Given the description of an element on the screen output the (x, y) to click on. 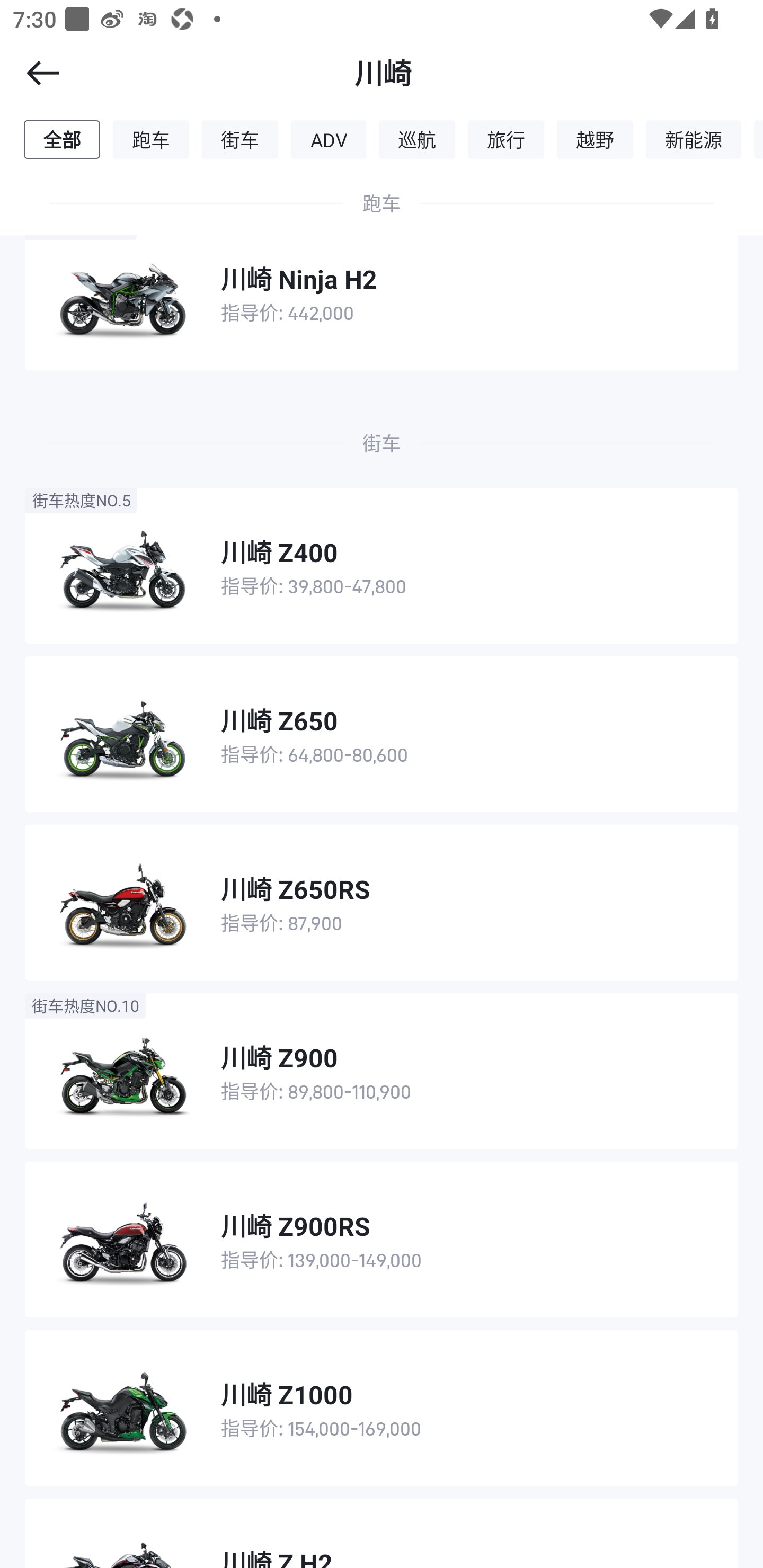
 (30, 72)
全部 (61, 139)
跑车 (150, 139)
街车 (240, 139)
ADV (328, 139)
巡航 (417, 139)
旅行 (505, 139)
越野 (594, 139)
新能源 (693, 139)
跑车热度NO.7 川崎 Ninja H2 指导价: 442,000 (381, 292)
街车热度NO.5 川崎 Z400 指导价: 39,800-47,800 (381, 564)
街车热度NO.5 (80, 499)
川崎 Z650 指导价: 64,800-80,600 (381, 734)
川崎 Z650RS 指导价: 87,900 (381, 902)
街车热度NO.10 川崎 Z900 指导价: 89,800-110,900 (381, 1070)
街车热度NO.10 (85, 1005)
川崎 Z900RS 指导价: 139,000-149,000 (381, 1239)
川崎 Z1000 指导价: 154,000-169,000 (381, 1407)
